Given the description of an element on the screen output the (x, y) to click on. 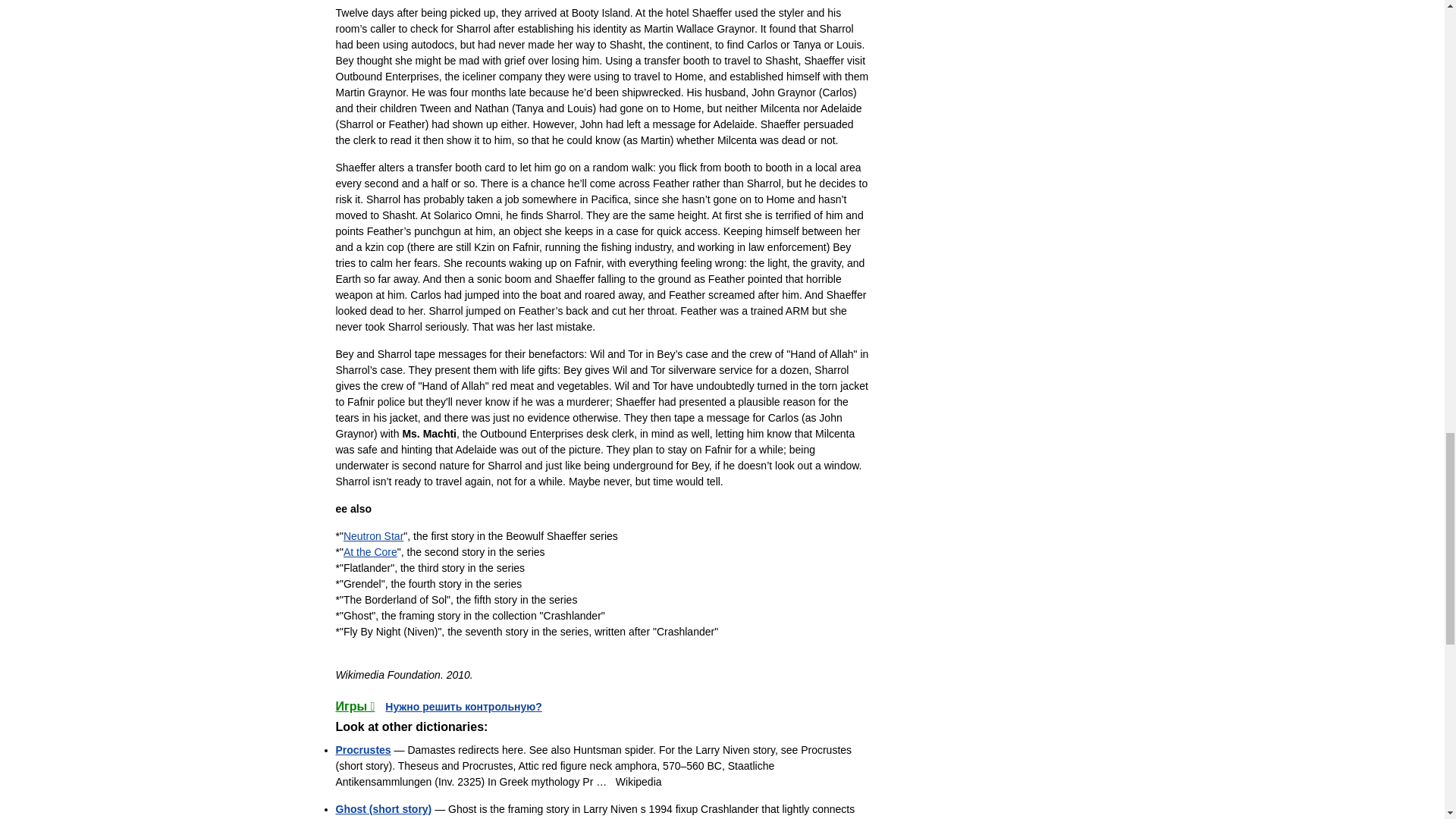
Procrustes (362, 749)
At the Core (370, 551)
Neutron Star (373, 535)
